Given the description of an element on the screen output the (x, y) to click on. 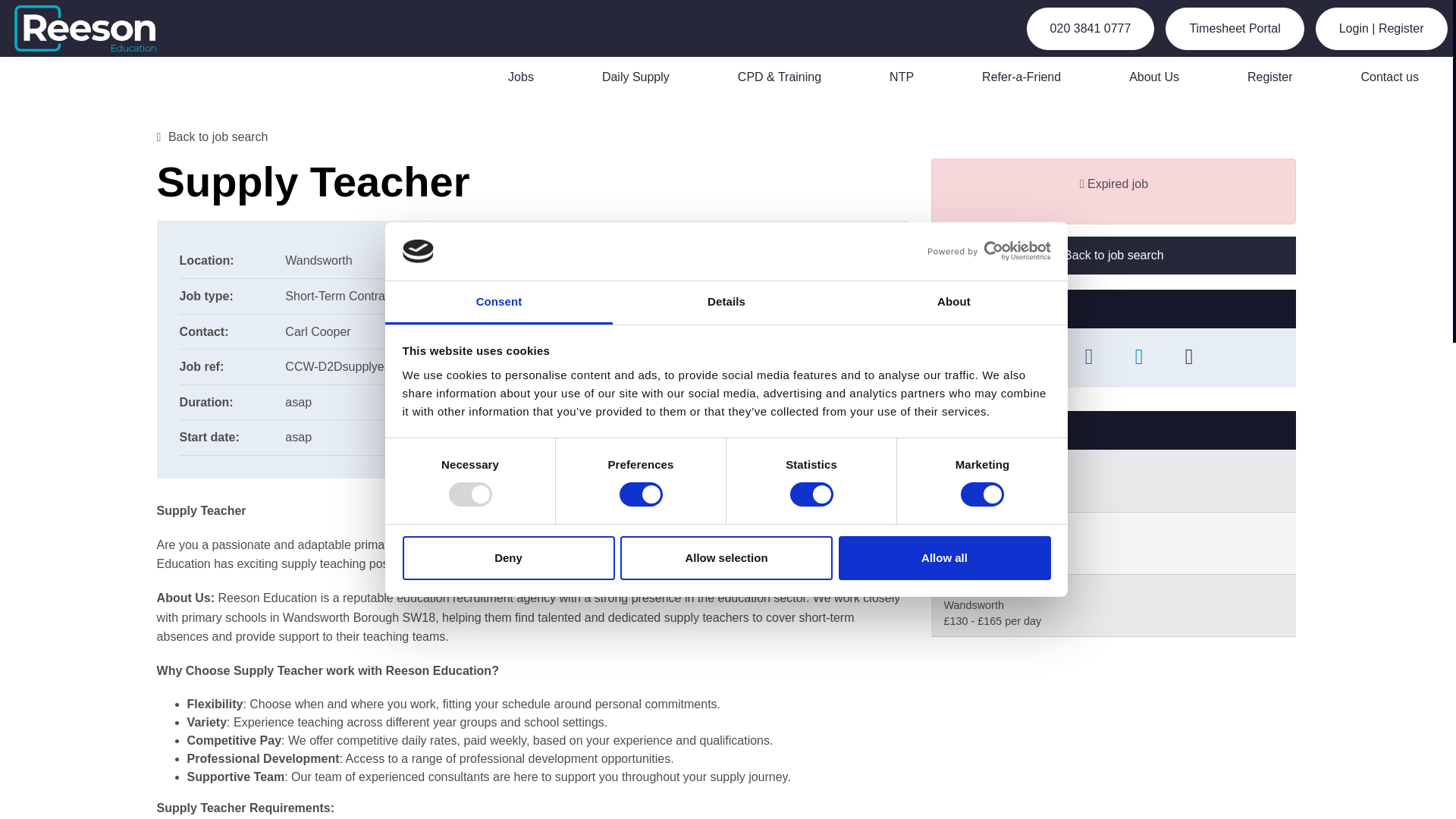
Consent (498, 302)
Allow all (944, 557)
Details (726, 302)
Twitter (1039, 357)
LinkedIn (1138, 357)
Deny (507, 557)
Facebook (1088, 357)
020 3841 0777 (1090, 28)
Go to the Homepage (94, 28)
About (953, 302)
